Given the description of an element on the screen output the (x, y) to click on. 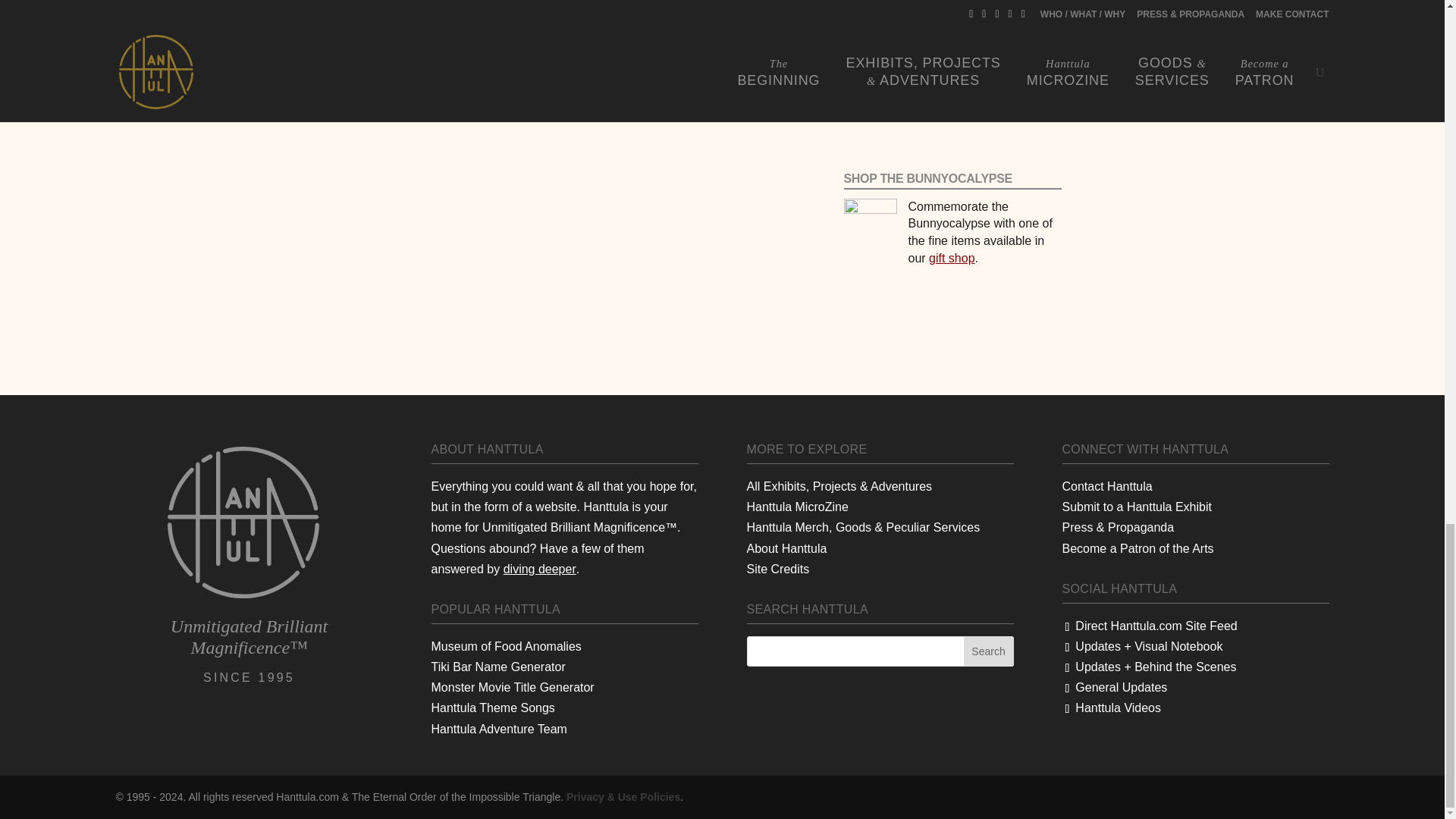
View Episode 4: Bunny vs. Water Torture (588, 34)
Episode 25: Bunny vs. Sparkler (952, 57)
Episode 23: Bunny vs. Helium Balloon (952, 1)
Search (988, 651)
